Given the description of an element on the screen output the (x, y) to click on. 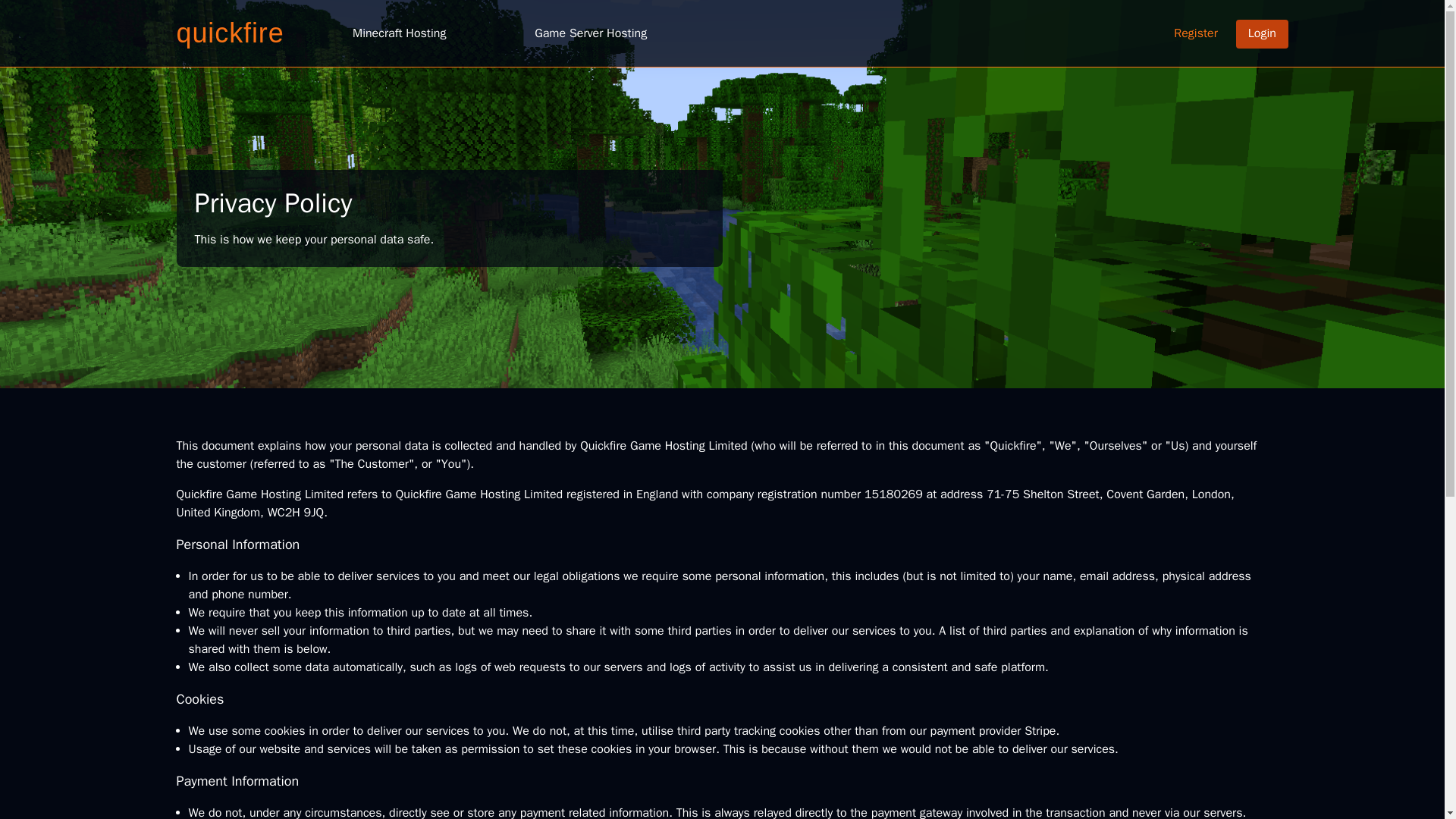
quickfire (229, 32)
Minecraft Hosting (397, 33)
Login (1262, 33)
Register (1195, 33)
Game Server Hosting (589, 33)
